Given the description of an element on the screen output the (x, y) to click on. 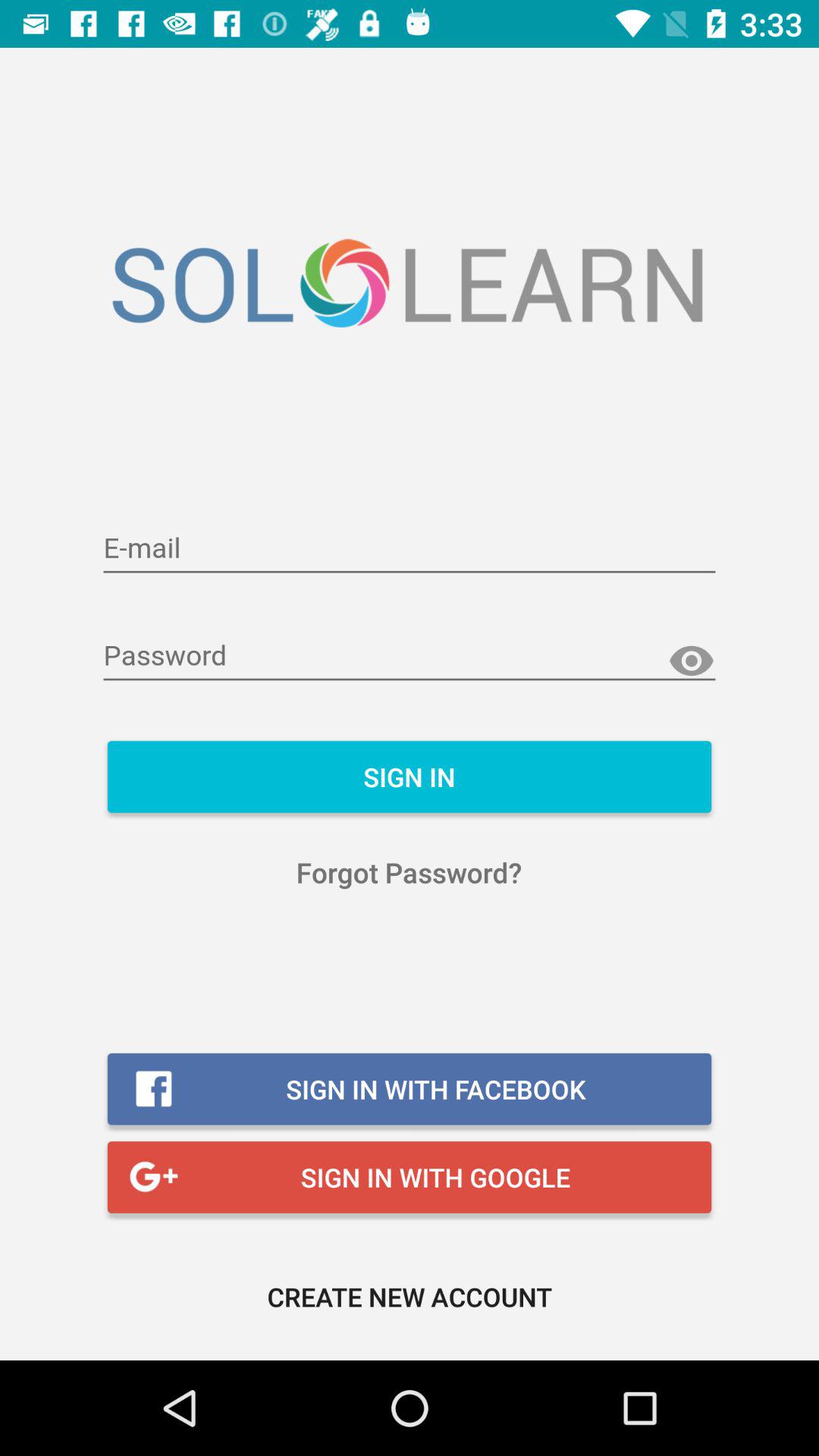
turn on item below the sign in (409, 872)
